Given the description of an element on the screen output the (x, y) to click on. 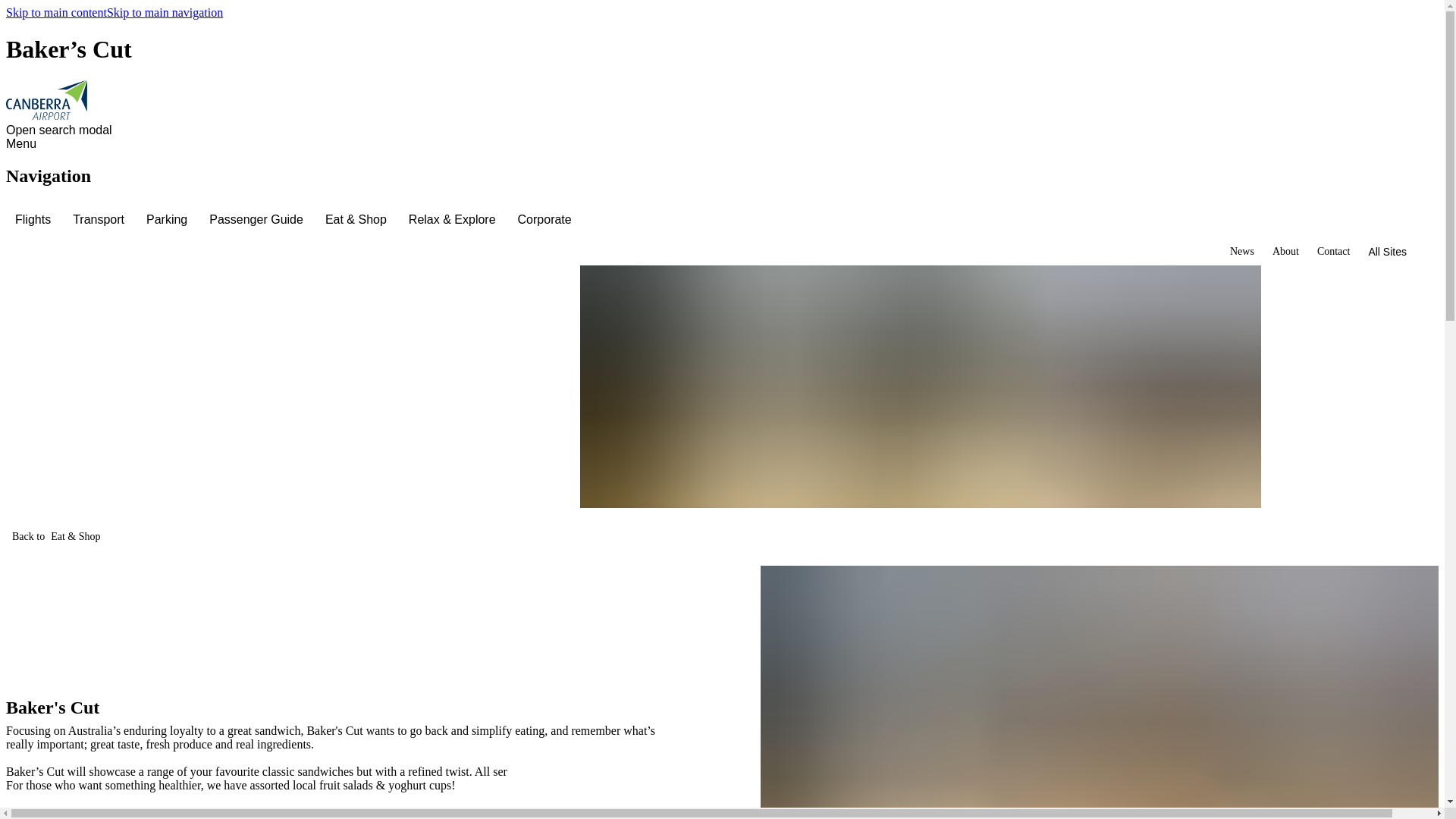
Menu (23, 143)
Skip to main content (55, 11)
Transport (100, 219)
Flights (34, 219)
Passenger Guide (258, 219)
Parking (168, 219)
Skip to main navigation (164, 11)
Open search modal (61, 130)
